Given the description of an element on the screen output the (x, y) to click on. 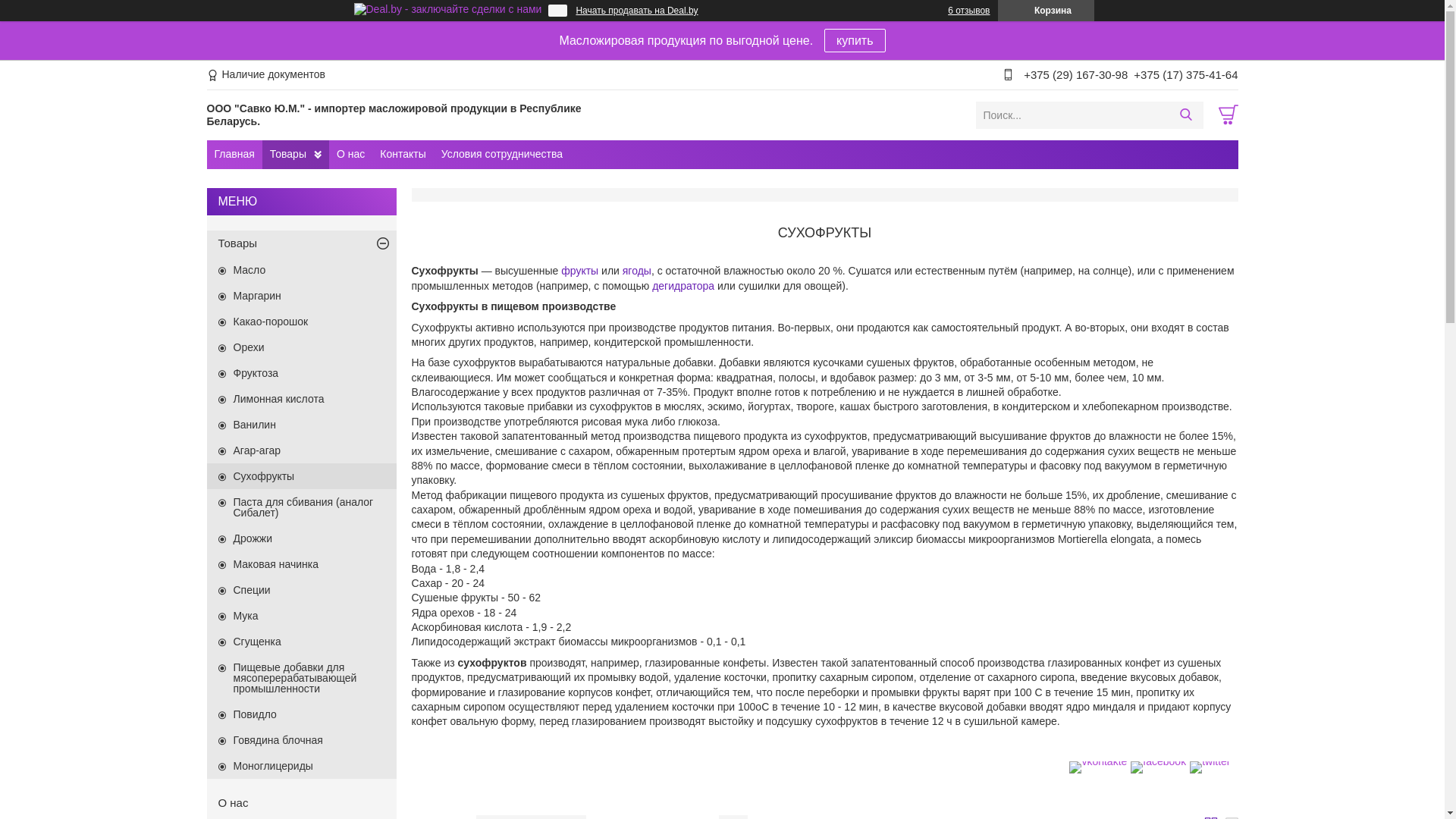
twitter Element type: hover (1209, 761)
facebook Element type: hover (1158, 761)
